Given the description of an element on the screen output the (x, y) to click on. 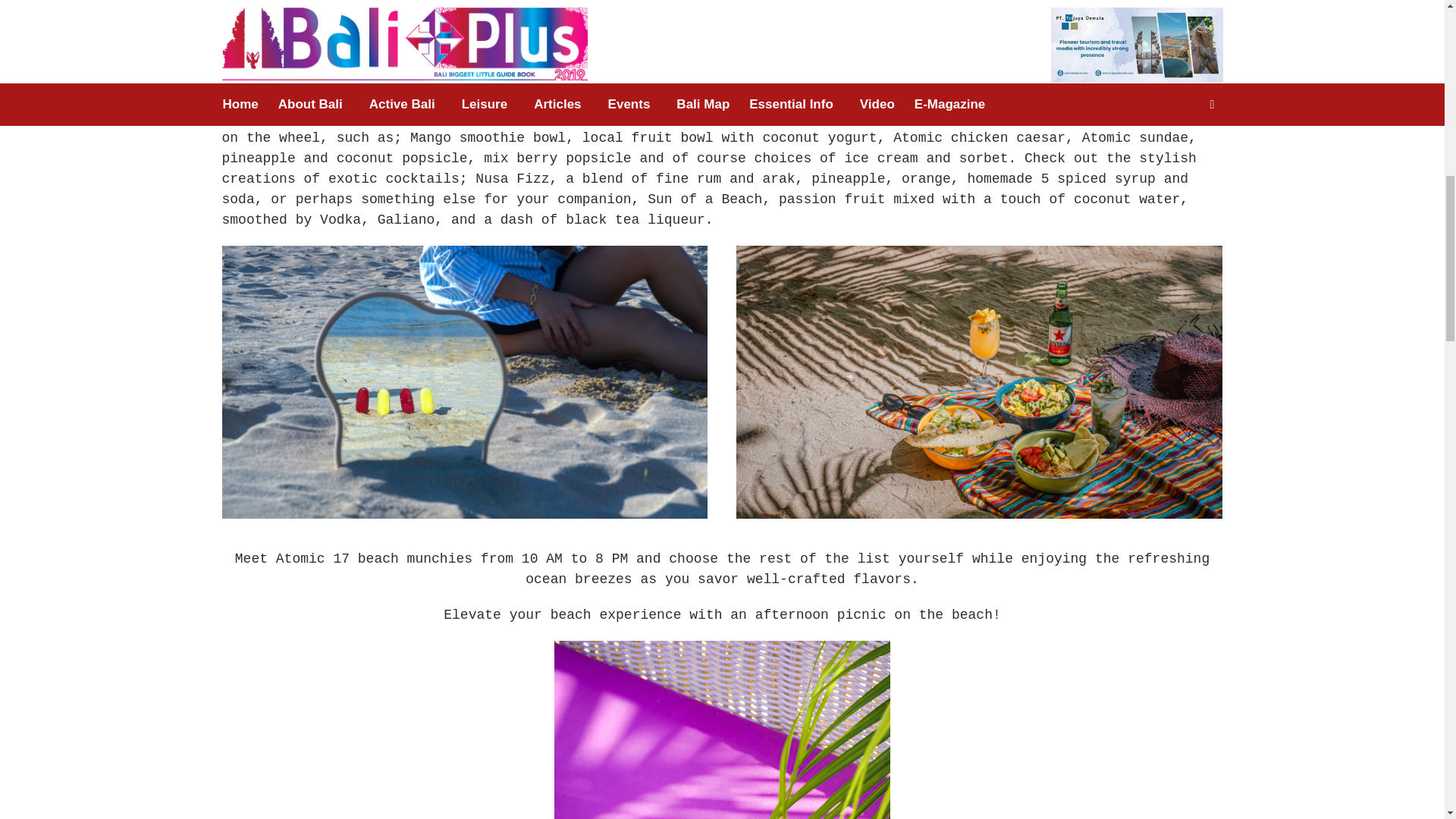
Page 1 (722, 22)
